Given the description of an element on the screen output the (x, y) to click on. 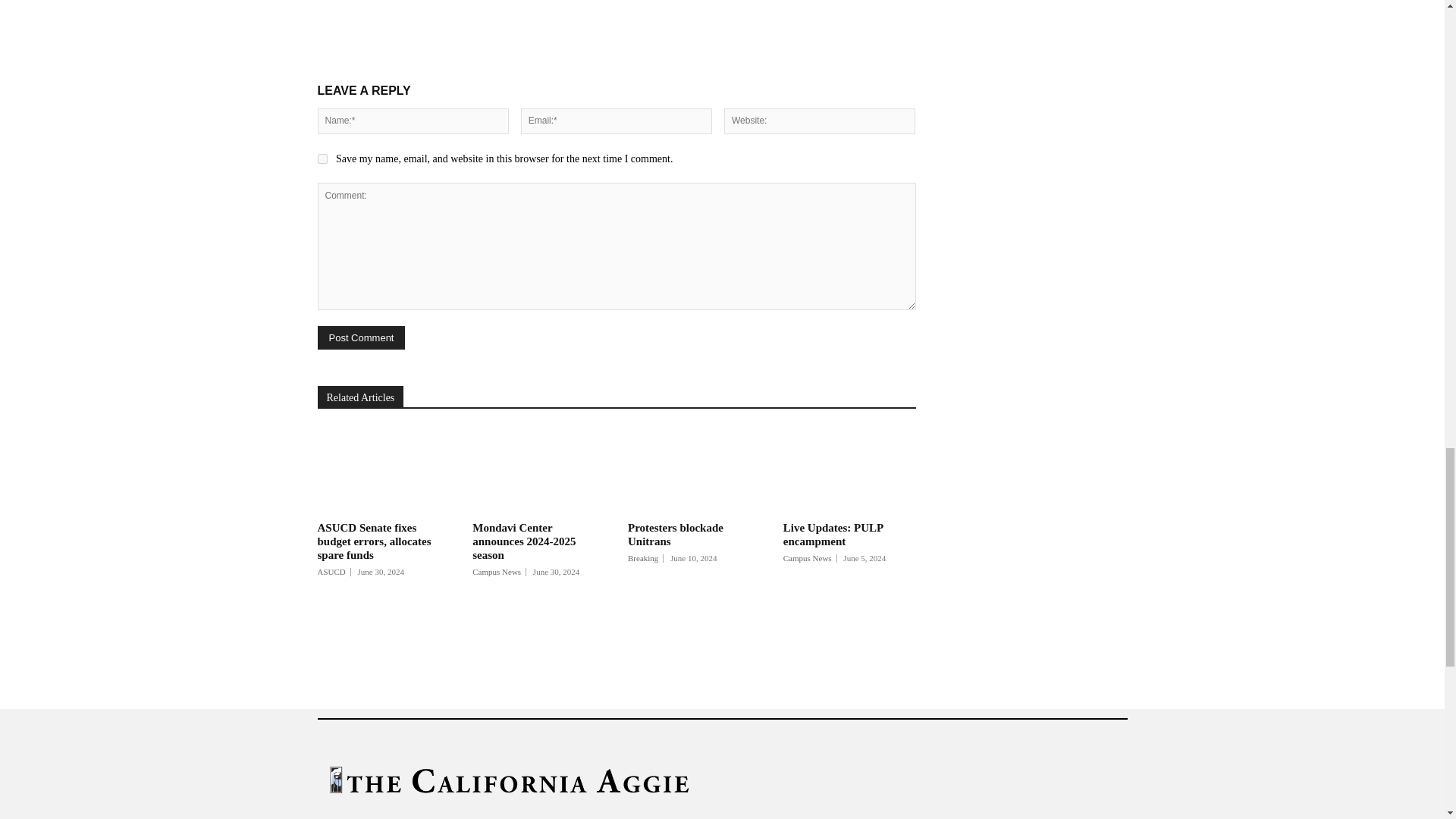
Post Comment (360, 337)
yes (321, 158)
